Given the description of an element on the screen output the (x, y) to click on. 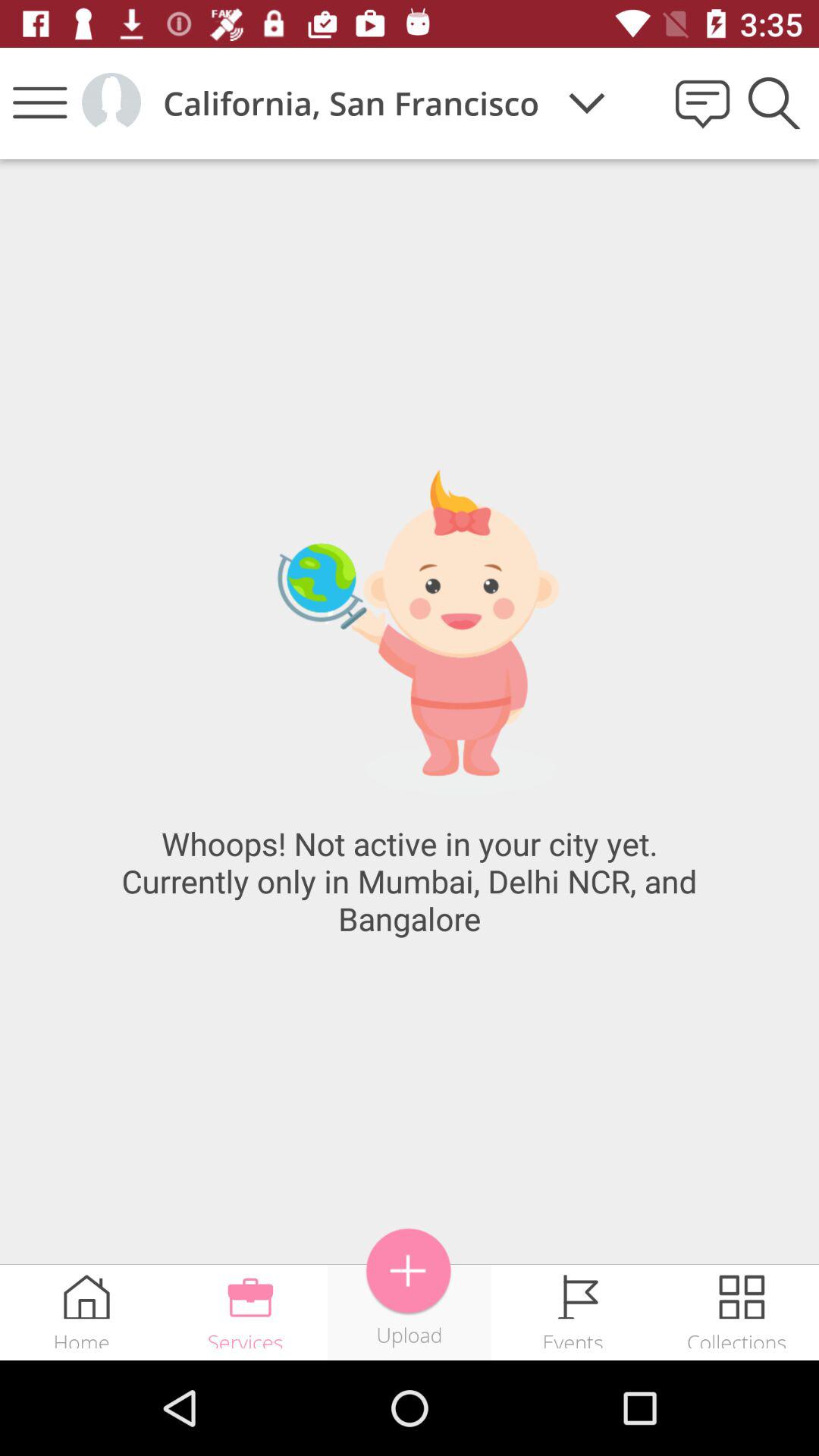
upload (408, 1271)
